Given the description of an element on the screen output the (x, y) to click on. 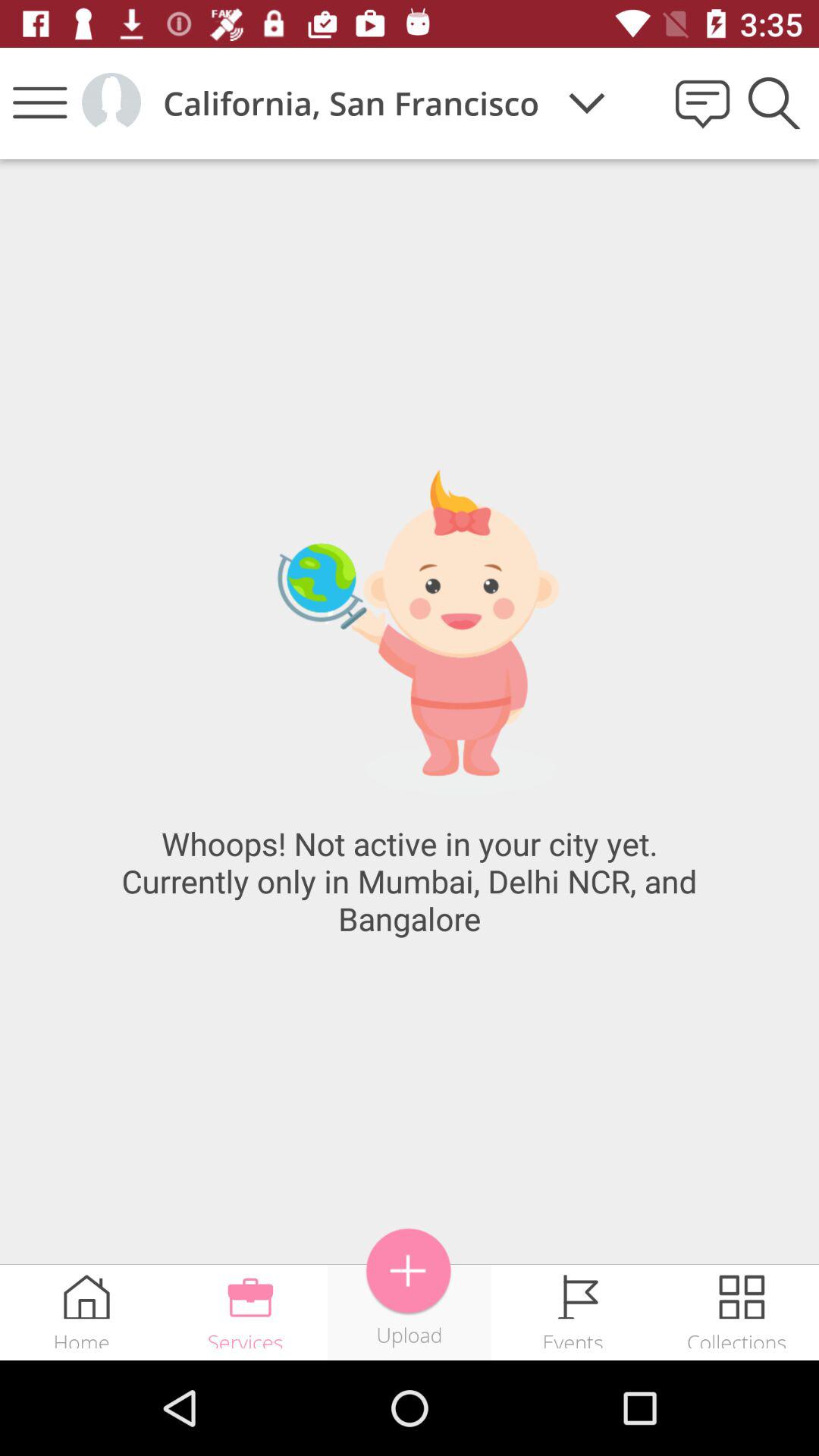
upload (408, 1271)
